Given the description of an element on the screen output the (x, y) to click on. 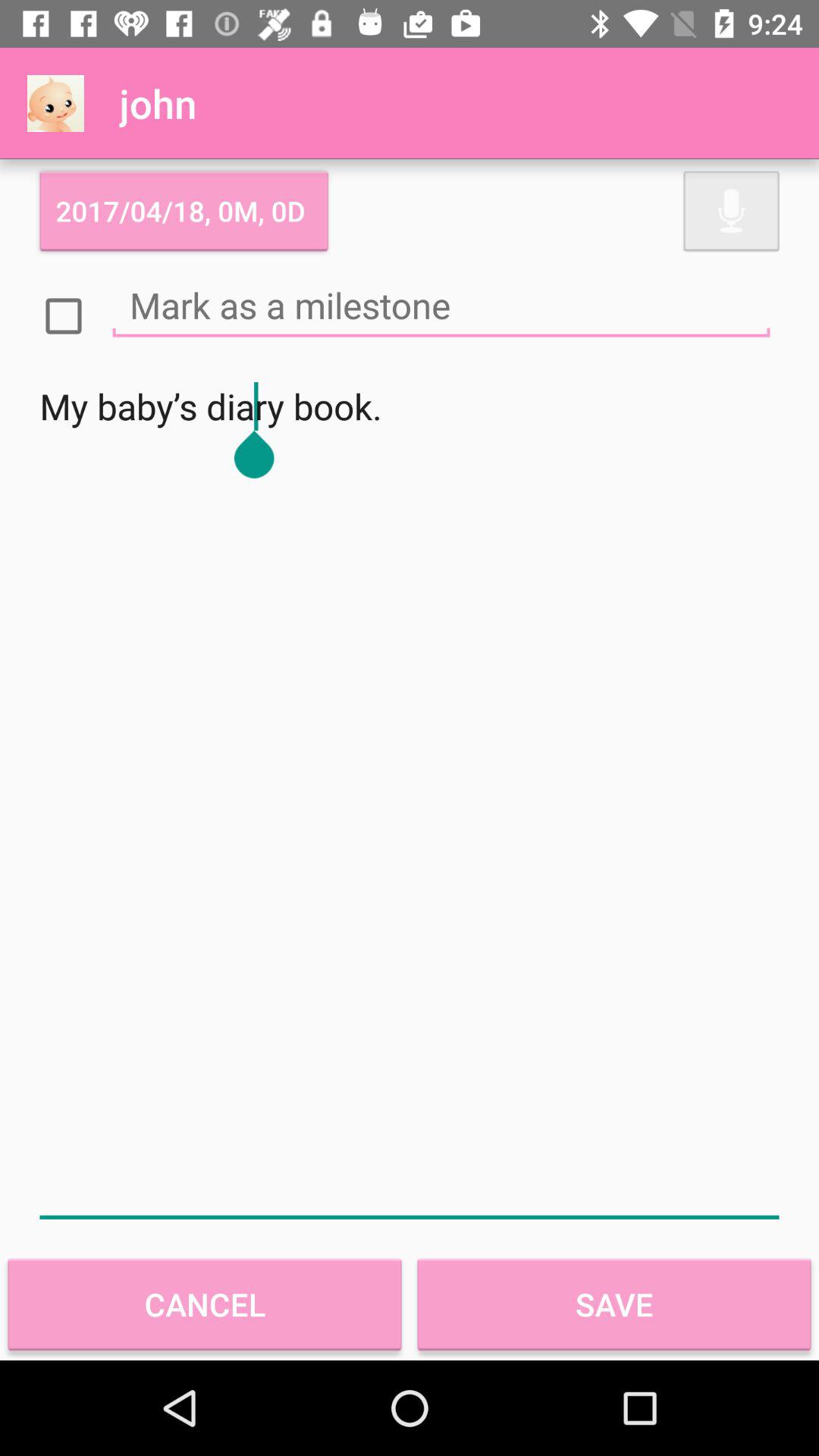
tick the checkbox (63, 316)
